Given the description of an element on the screen output the (x, y) to click on. 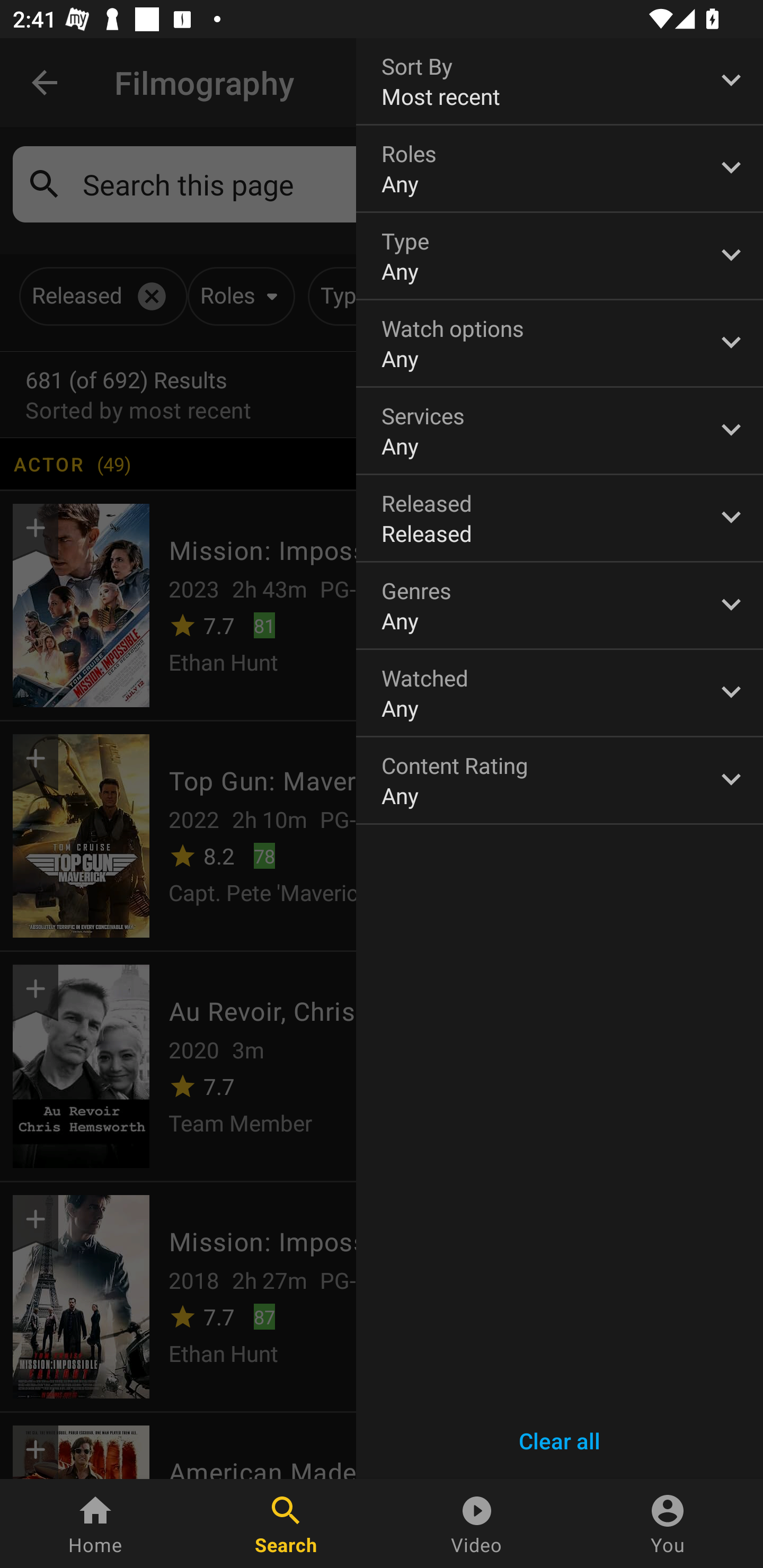
Sort By Most recent (559, 80)
Roles Any (559, 168)
Type Any (559, 256)
Watch options Any (559, 343)
Services Any (559, 430)
Released (559, 518)
Genres Any (559, 605)
Watched Any (559, 692)
Content Rating Any (559, 779)
Clear all (559, 1440)
Home (95, 1523)
Video (476, 1523)
You (667, 1523)
